Given the description of an element on the screen output the (x, y) to click on. 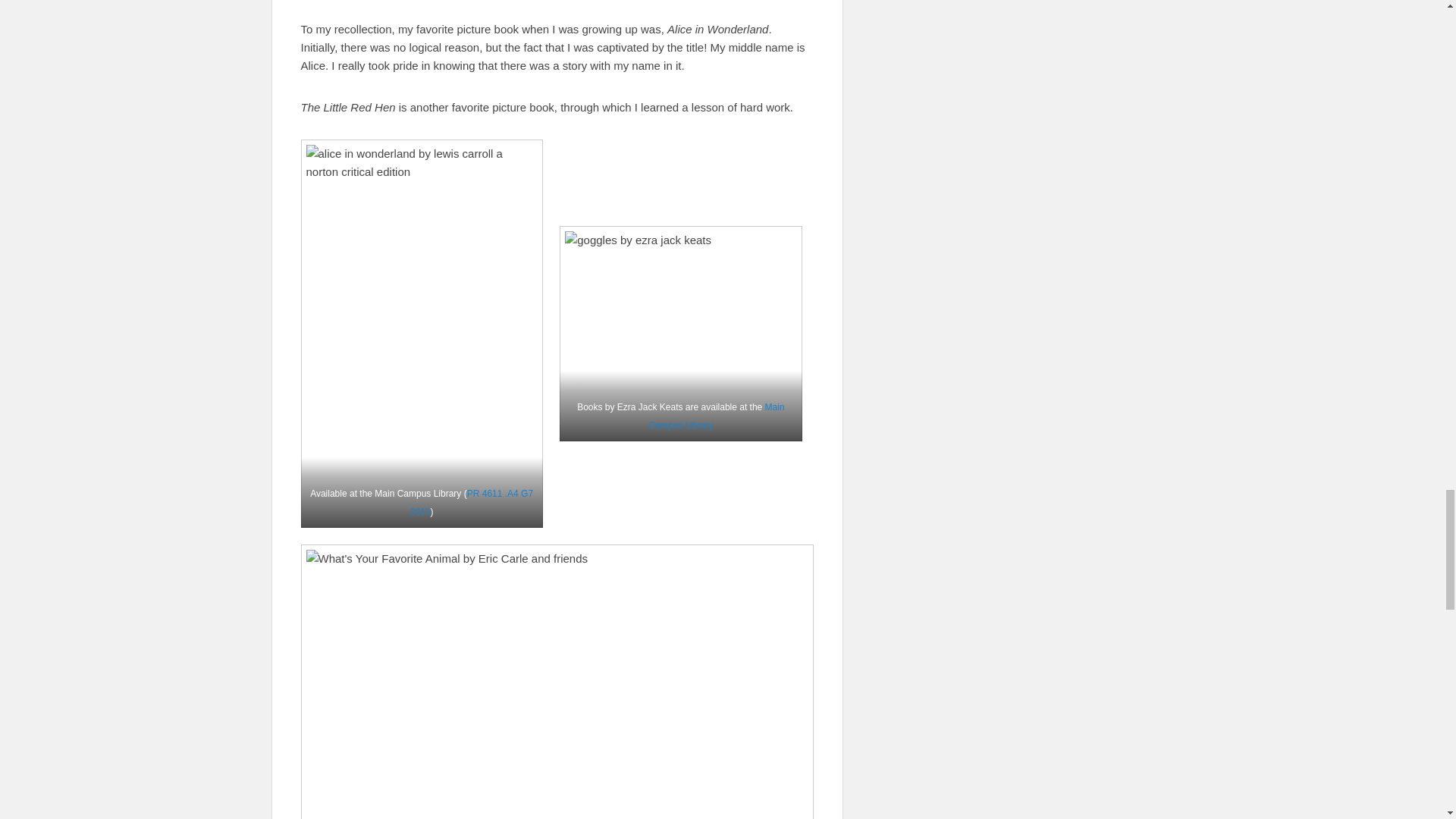
PR 4611 .A4 G7 2013 (471, 502)
Main Campus Library (716, 416)
